Given the description of an element on the screen output the (x, y) to click on. 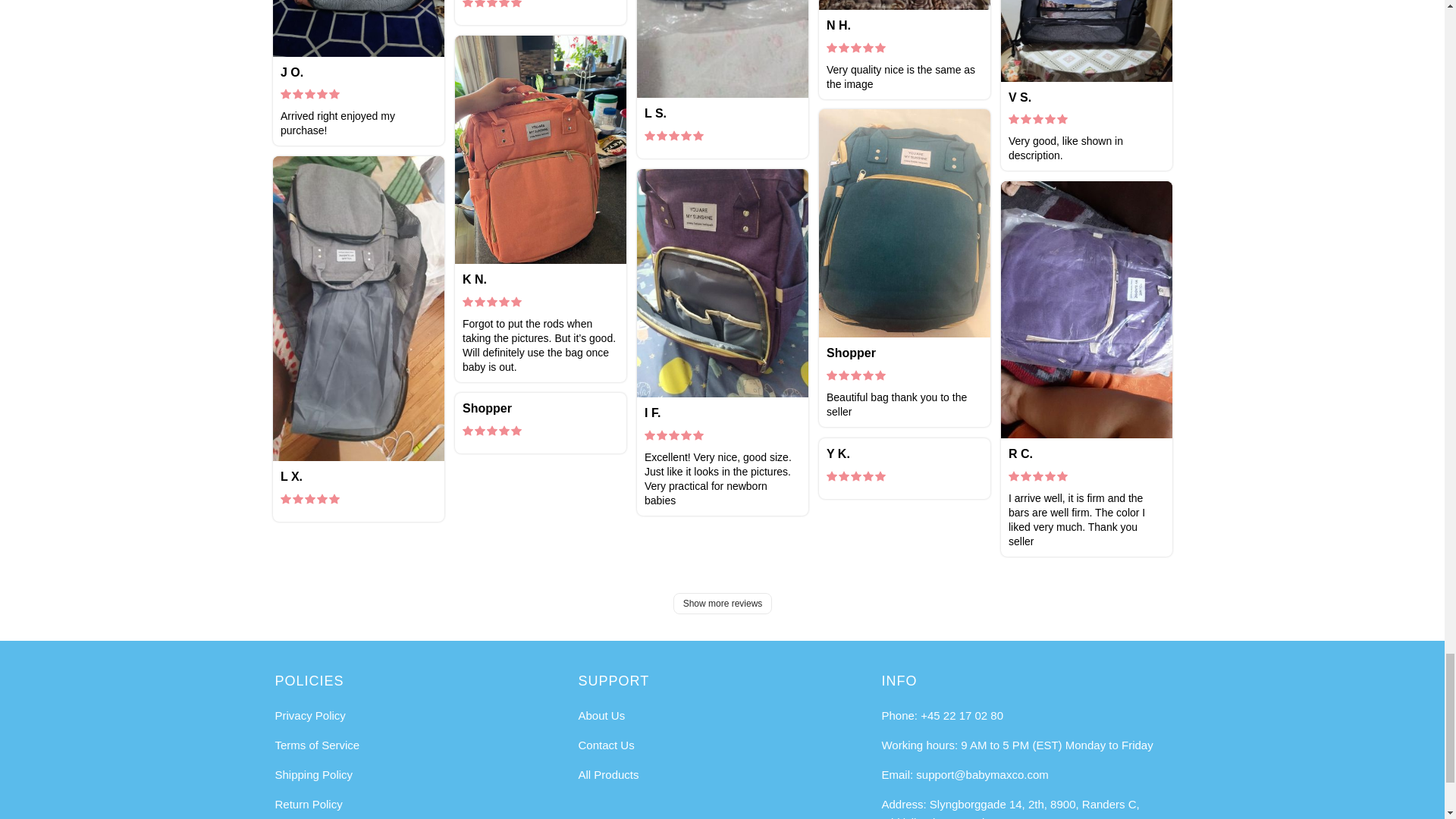
Return Policy (308, 803)
Terms of Service (317, 744)
Privacy Policy (310, 715)
Shipping Policy (313, 774)
About Us (601, 715)
